Given the description of an element on the screen output the (x, y) to click on. 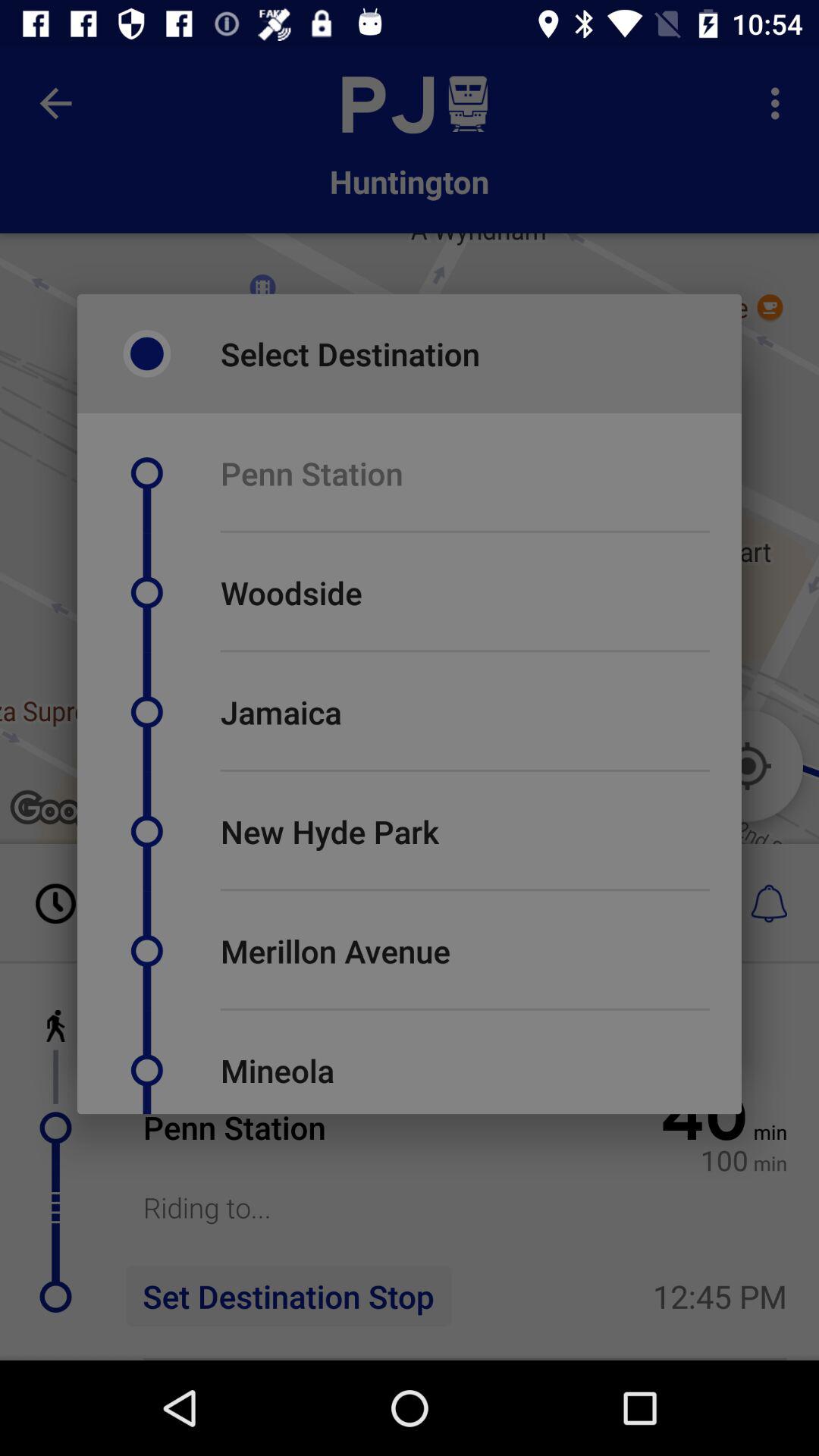
jump until woodside (291, 592)
